Given the description of an element on the screen output the (x, y) to click on. 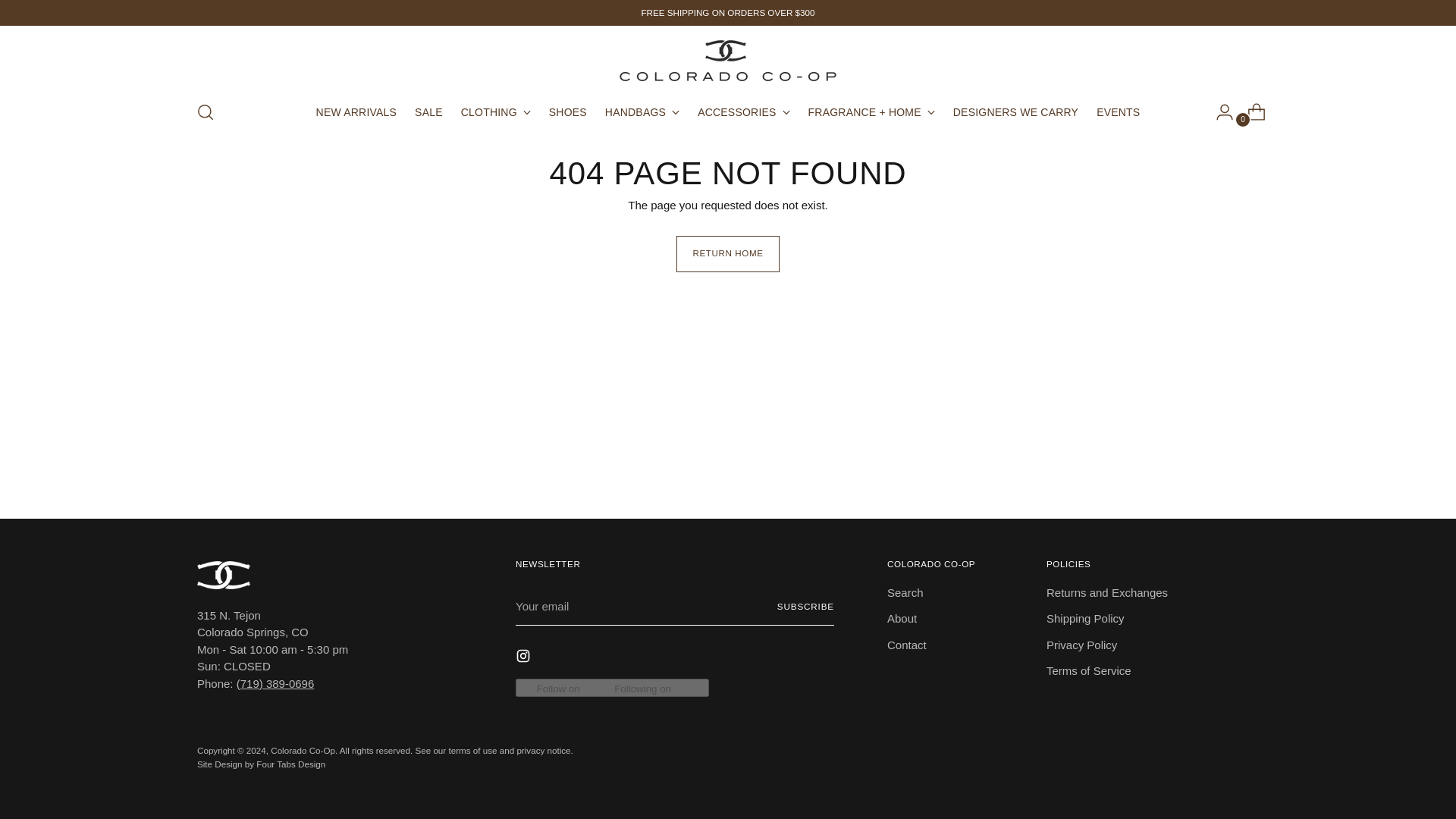
Colorado Co-Op on Instagram (524, 658)
Phone: 719-389-0696 (274, 683)
ACCESSORIES (743, 111)
0 (1249, 112)
DESIGNERS WE CARRY (1015, 111)
CLOTHING (496, 111)
HANDBAGS (642, 111)
NEW ARRIVALS (356, 111)
SHOES (567, 111)
EVENTS (1118, 111)
